Given the description of an element on the screen output the (x, y) to click on. 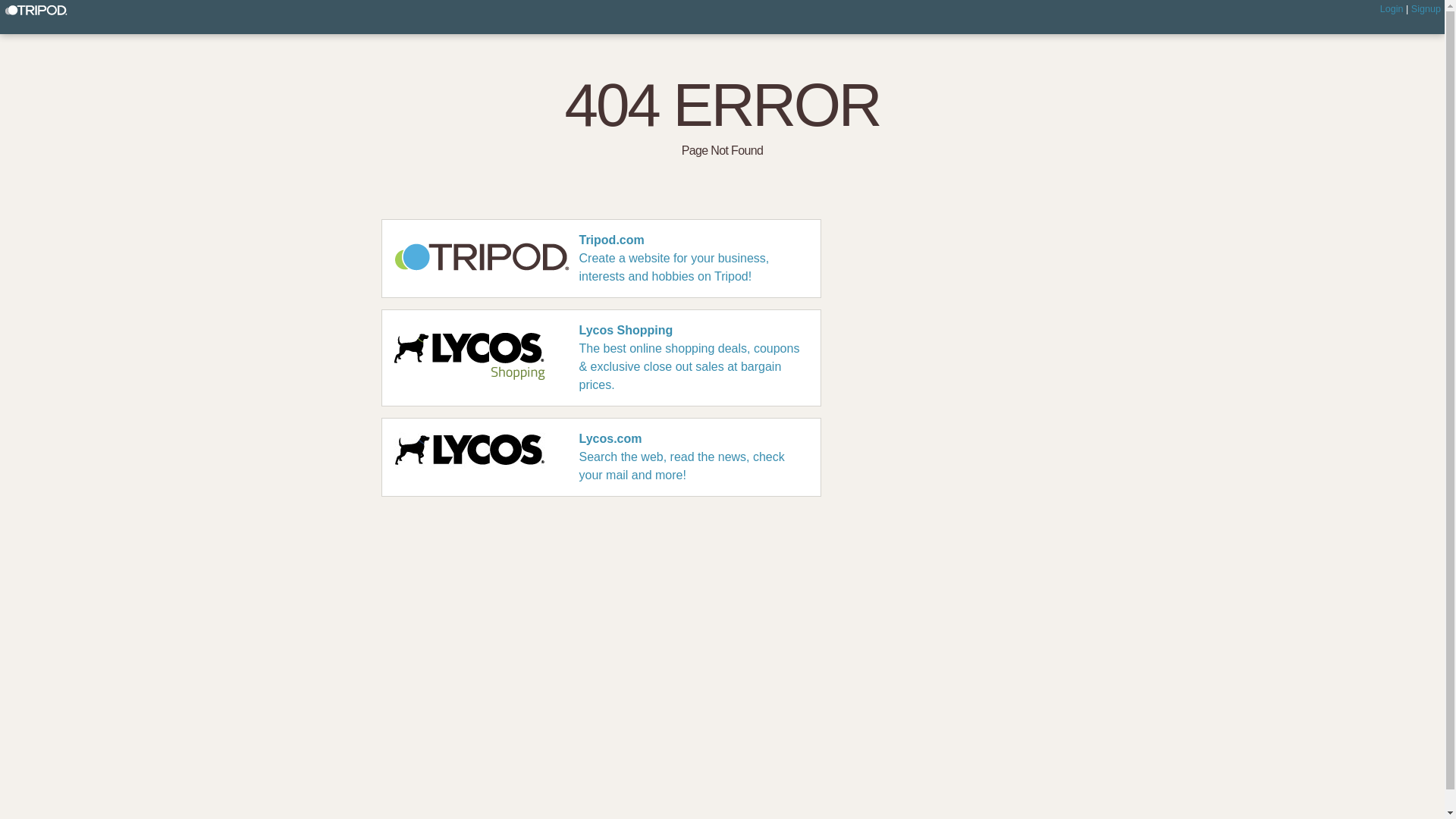
Login Element type: text (1391, 8)
Signup Element type: text (1425, 8)
